Given the description of an element on the screen output the (x, y) to click on. 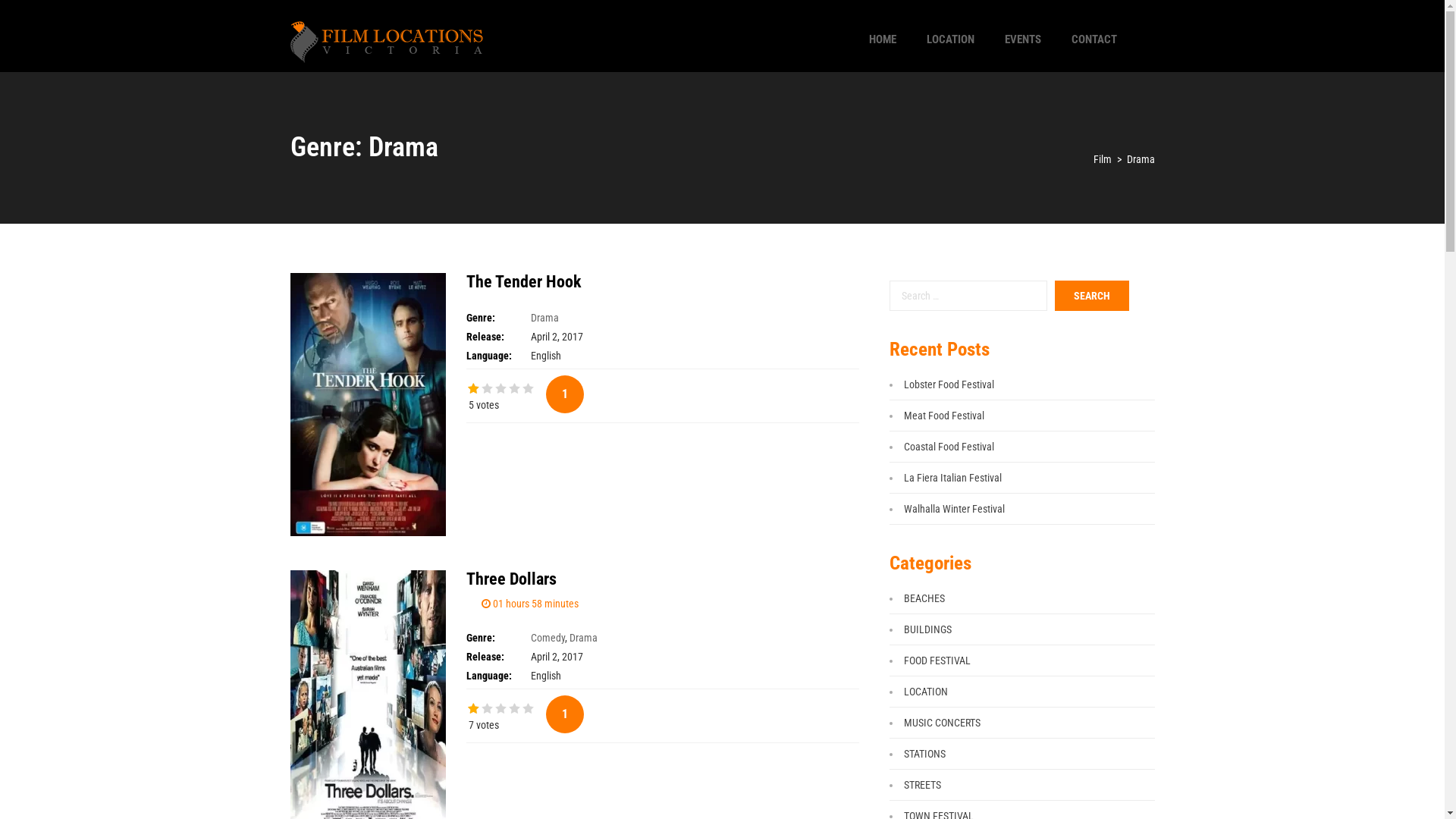
BEACHES Element type: text (923, 598)
MUSIC CONCERTS Element type: text (941, 722)
LOCATION Element type: text (950, 39)
BUILDINGS Element type: text (927, 629)
Meat Food Festival Element type: text (943, 415)
LOCATION Element type: text (925, 691)
STREETS Element type: text (922, 784)
CONTACT Element type: text (1093, 39)
Drama Element type: text (582, 637)
Walhalla Winter Festival Element type: text (953, 508)
EVENTS Element type: text (1021, 39)
FOOD FESTIVAL Element type: text (936, 660)
Lobster Food Festival Element type: text (948, 384)
HOME Element type: text (882, 39)
Comedy Element type: text (547, 637)
STATIONS Element type: text (924, 753)
Three Dollars Element type: text (510, 578)
The Tender Hook Element type: text (522, 281)
Coastal Food Festival Element type: text (948, 446)
La Fiera Italian Festival Element type: text (952, 477)
Film Element type: text (1102, 159)
Search Element type: text (1091, 295)
Drama Element type: text (544, 317)
